Given the description of an element on the screen output the (x, y) to click on. 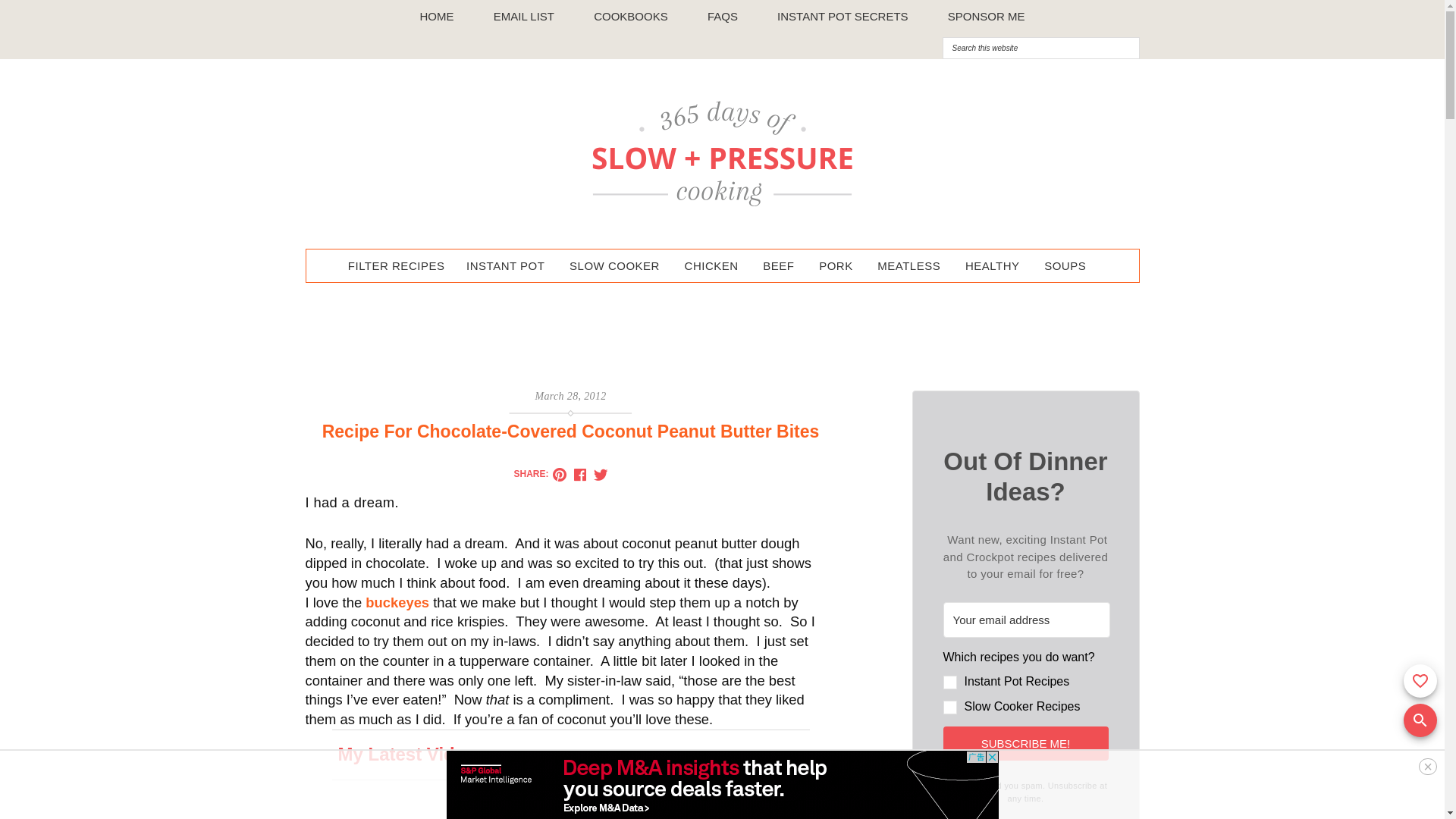
365 Days of Slow Cooking and Pressure Cooking Element type: text (721, 153)
CHICKEN Element type: text (711, 265)
EMAIL LIST Element type: text (523, 16)
INSTANT POT Element type: text (505, 265)
FILTER RECIPES Element type: text (396, 265)
COOKBOOKS Element type: text (630, 16)
PORK Element type: text (835, 265)
INSTANT POT SECRETS Element type: text (842, 16)
HOME Element type: text (436, 16)
HEALTHY Element type: text (992, 265)
MEATLESS Element type: text (908, 265)
BEEF Element type: text (778, 265)
Search Element type: text (1237, 36)
SOUPS Element type: text (1064, 265)
SPONSOR ME Element type: text (986, 16)
FAQS Element type: text (722, 16)
buckeyes Element type: text (397, 602)
SLOW COOKER Element type: text (614, 265)
SUBSCRIBE ME! Element type: text (1025, 743)
